Given the description of an element on the screen output the (x, y) to click on. 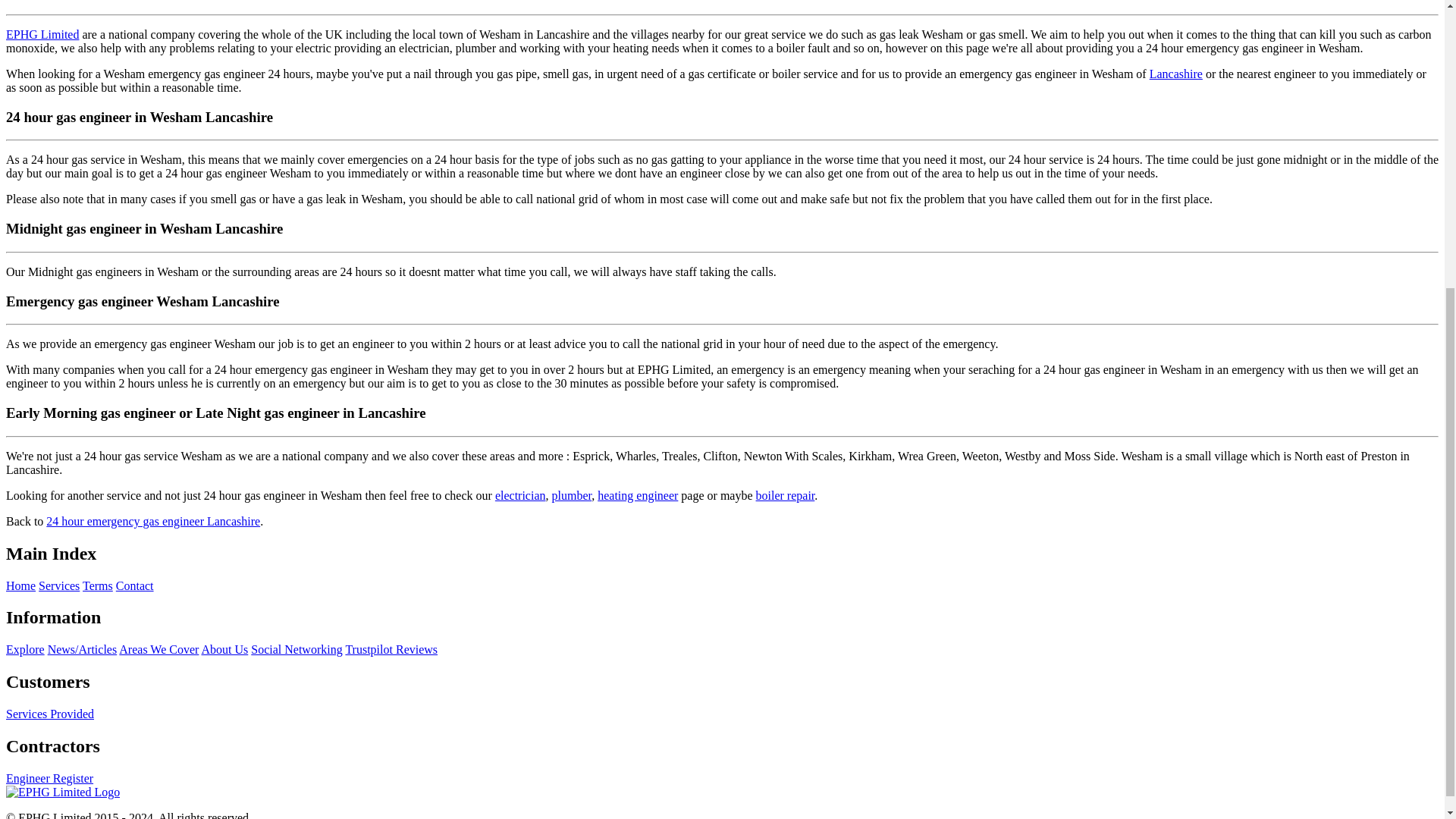
Explore (25, 649)
Trustpilot Reviews (391, 649)
electrician (520, 495)
24 hour emergency gas engineer Lancashire (153, 521)
Social Networking (296, 649)
24 Hour Emergency gas engineer Lancashire (153, 521)
Social Networking (296, 649)
Services (59, 585)
Services Provided (49, 713)
Explore (25, 649)
Lancashire (1176, 73)
Electrician (520, 495)
Engineer Register (49, 778)
Services Provided (49, 713)
Services (59, 585)
